Given the description of an element on the screen output the (x, y) to click on. 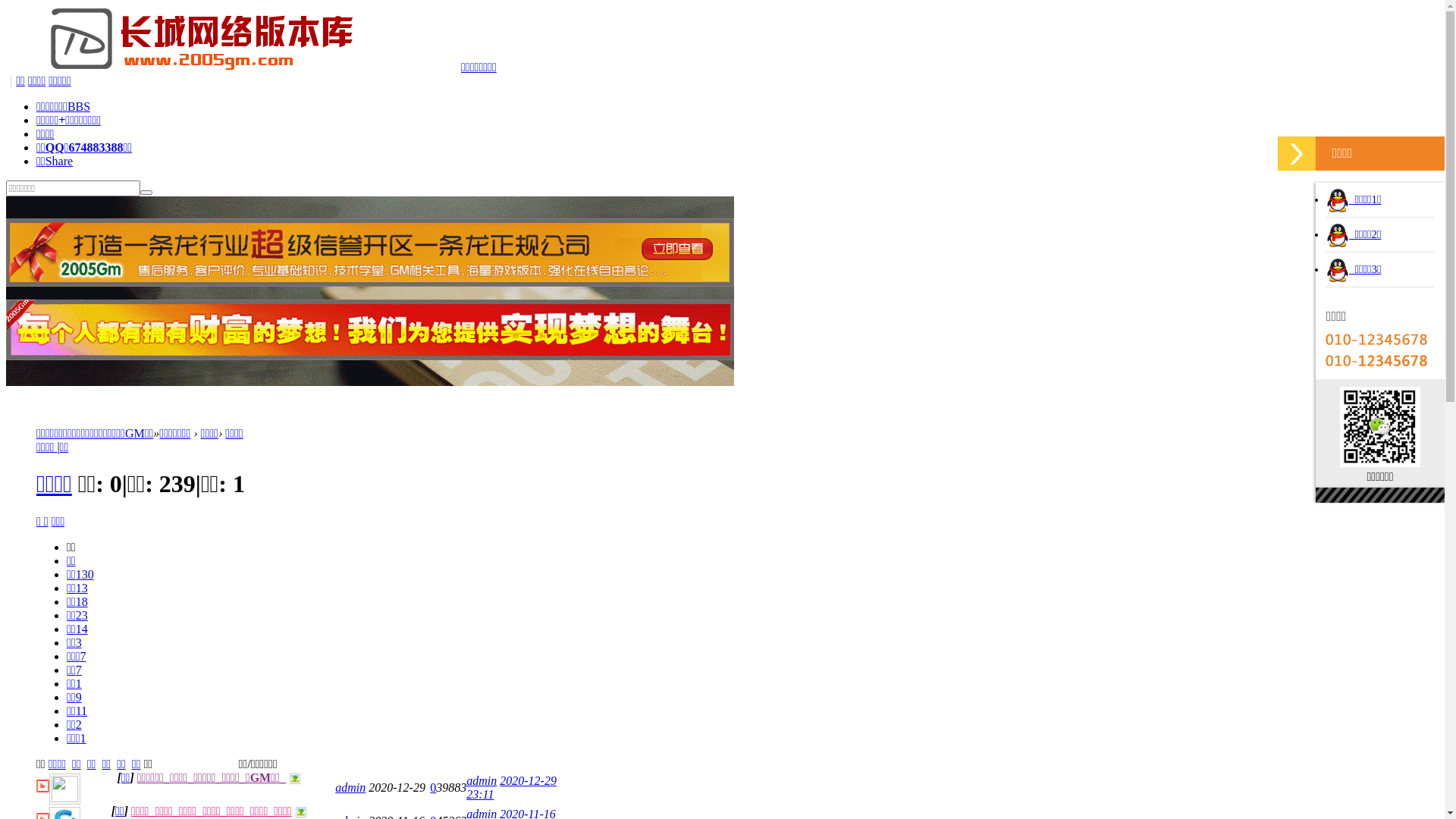
0 Element type: text (432, 787)
admin Element type: text (481, 780)
admin Element type: text (350, 787)
true Element type: text (146, 191)
2020-12-29 23:11 Element type: text (511, 787)
